Given the description of an element on the screen output the (x, y) to click on. 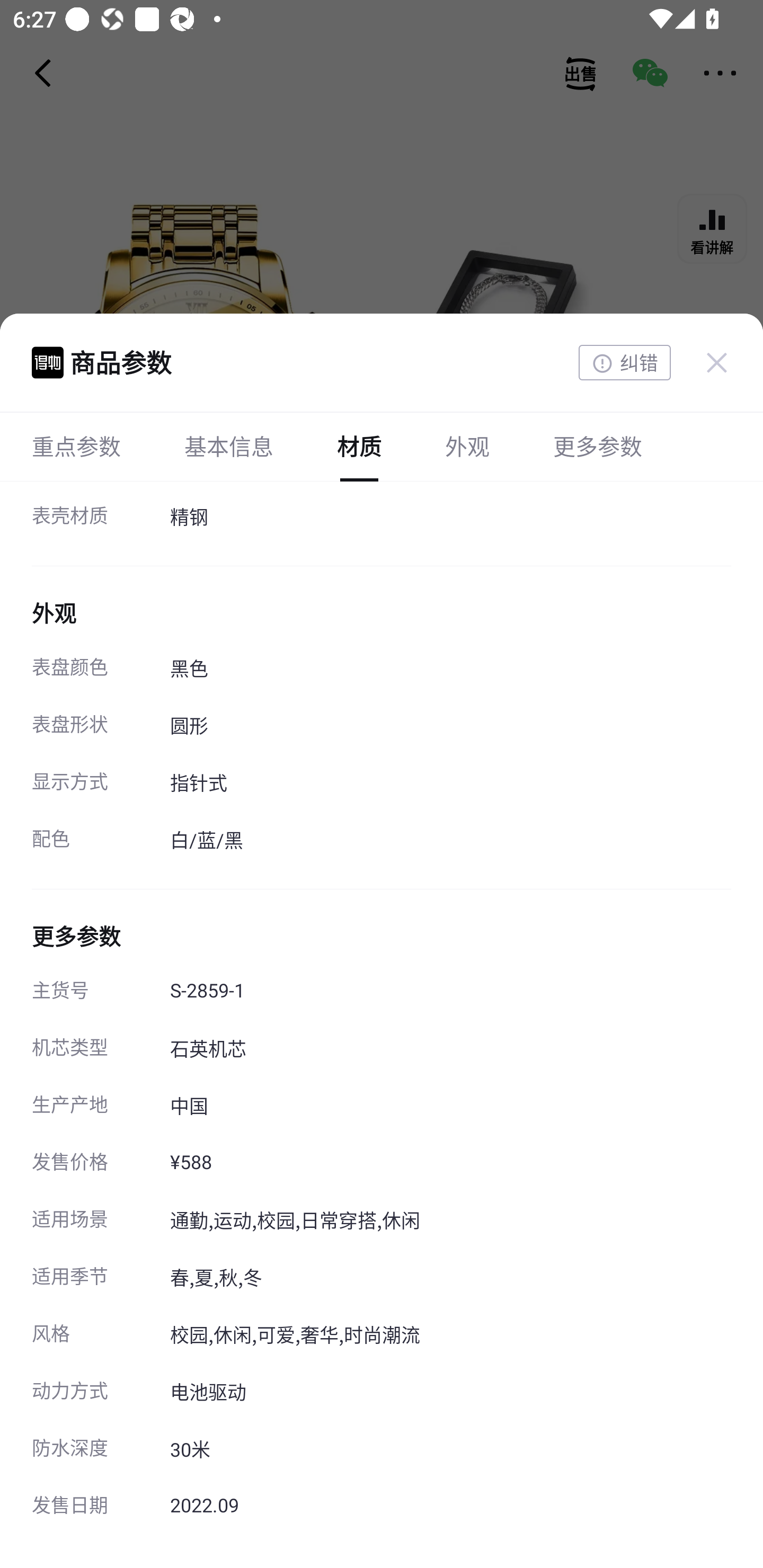
 (716, 362)
纠错 (624, 362)
重点参数 (76, 445)
基本信息 (228, 445)
材质 (359, 445)
外观 (467, 445)
更多参数 (597, 445)
精钢 (450, 518)
黑色 (450, 669)
圆形 (450, 726)
指针式 (450, 783)
白/蓝/黑 (450, 841)
S-2859-1 (450, 992)
石英机芯 (450, 1049)
中国 (450, 1106)
¥588 (450, 1164)
通勤,运动,校园,日常穿搭,休闲 (450, 1221)
春,夏,秋,冬 (450, 1278)
校园,休闲,可爱,奢华,时尚潮流 (450, 1335)
电池驱动 (450, 1393)
30米 (450, 1450)
2022.09 (450, 1507)
